Given the description of an element on the screen output the (x, y) to click on. 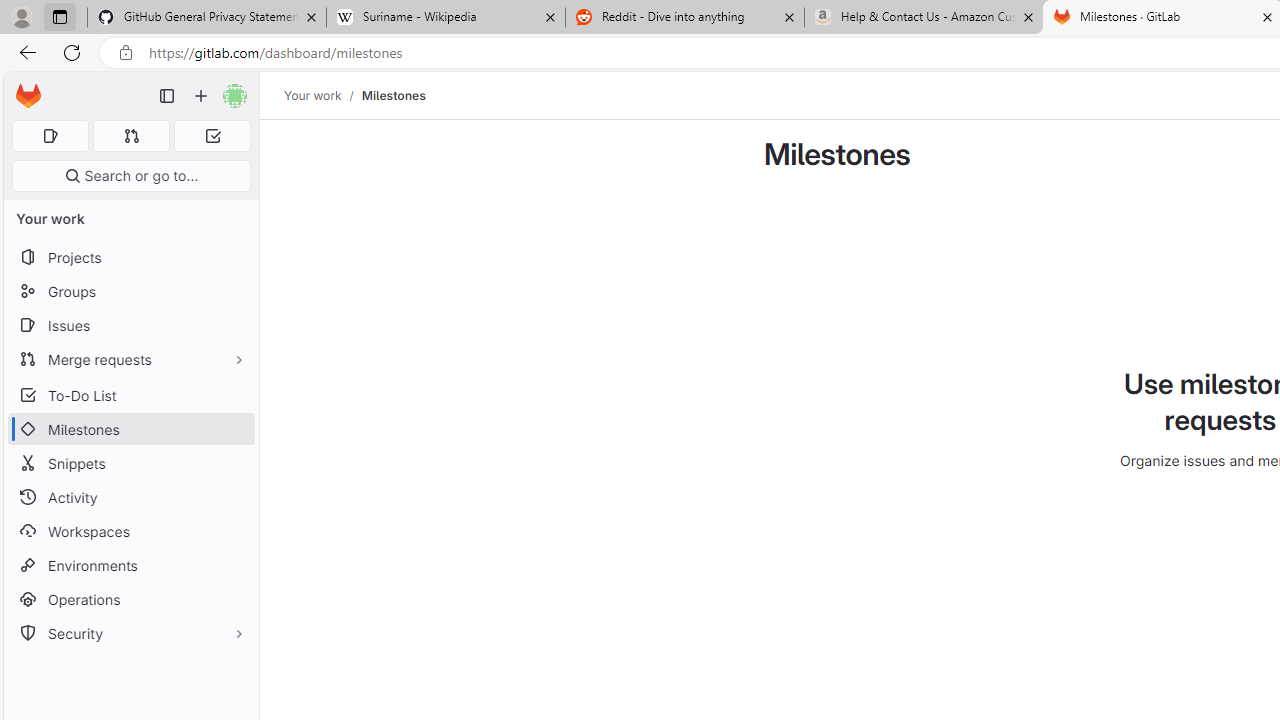
Milestones (393, 95)
Activity (130, 497)
Issues (130, 325)
Snippets (130, 463)
Primary navigation sidebar (167, 96)
Create new... (201, 96)
Merge requests (130, 358)
Groups (130, 291)
Your work (312, 95)
Skip to main content (23, 87)
Merge requests 0 (131, 136)
Help & Contact Us - Amazon Customer Service - Sleeping (924, 17)
Security (130, 633)
Homepage (27, 96)
